Given the description of an element on the screen output the (x, y) to click on. 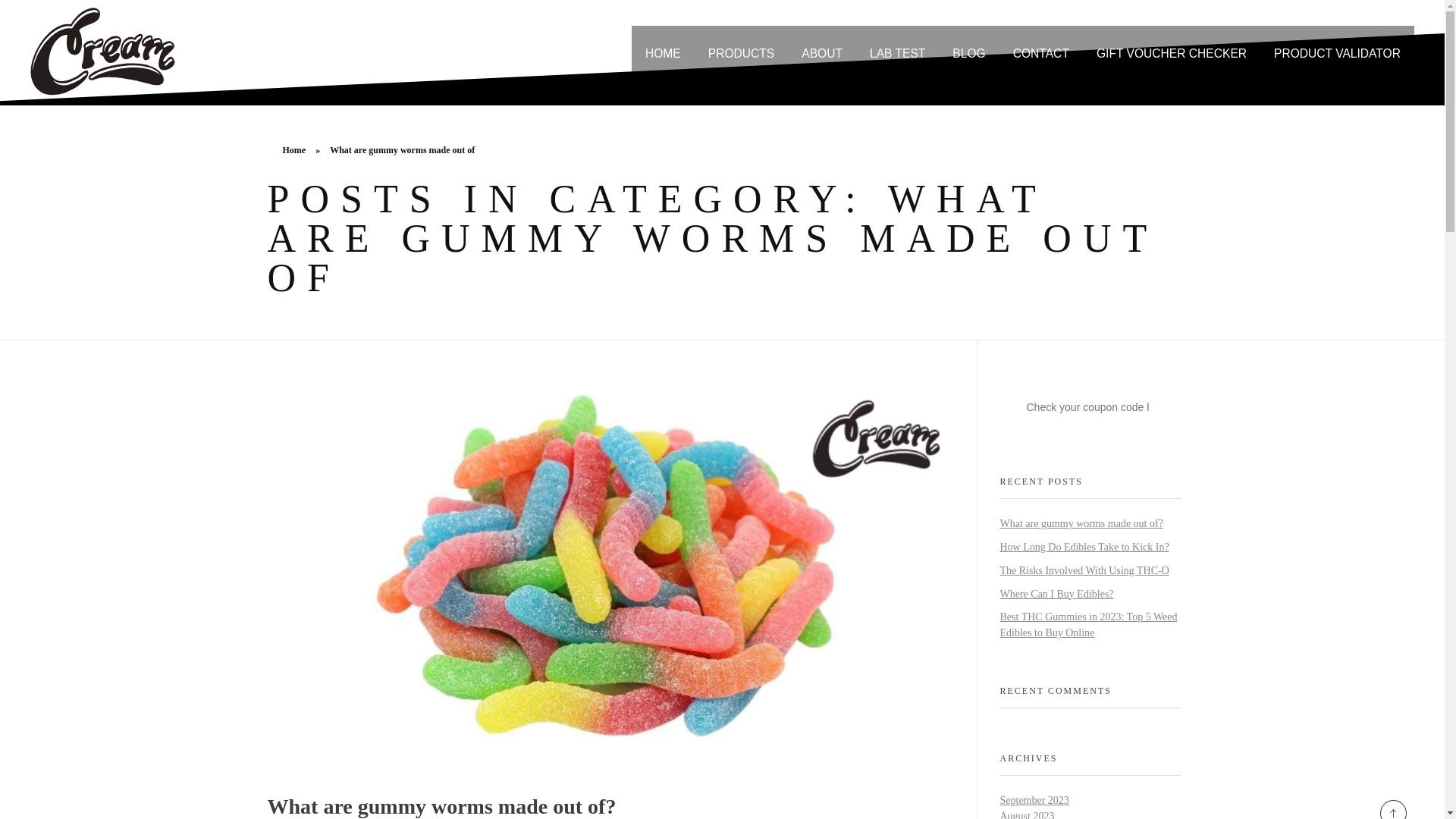
GIFT VOUCHER CHECKER (1171, 50)
September 2023 (1033, 799)
What are gummy worms made out of? (1079, 523)
The Risks Involved With Using THC-O (1083, 570)
August 2023 (1026, 814)
BLOG (968, 50)
Where Can I Buy Edibles? (1055, 593)
What are gummy worms made out of? (440, 806)
ABOUT (821, 50)
PRODUCTS (741, 50)
LAB TEST (897, 50)
CONTACT (1040, 50)
How Long Do Edibles Take to Kick In? (1083, 546)
PRODUCT VALIDATOR (1336, 50)
Home (293, 149)
